Given the description of an element on the screen output the (x, y) to click on. 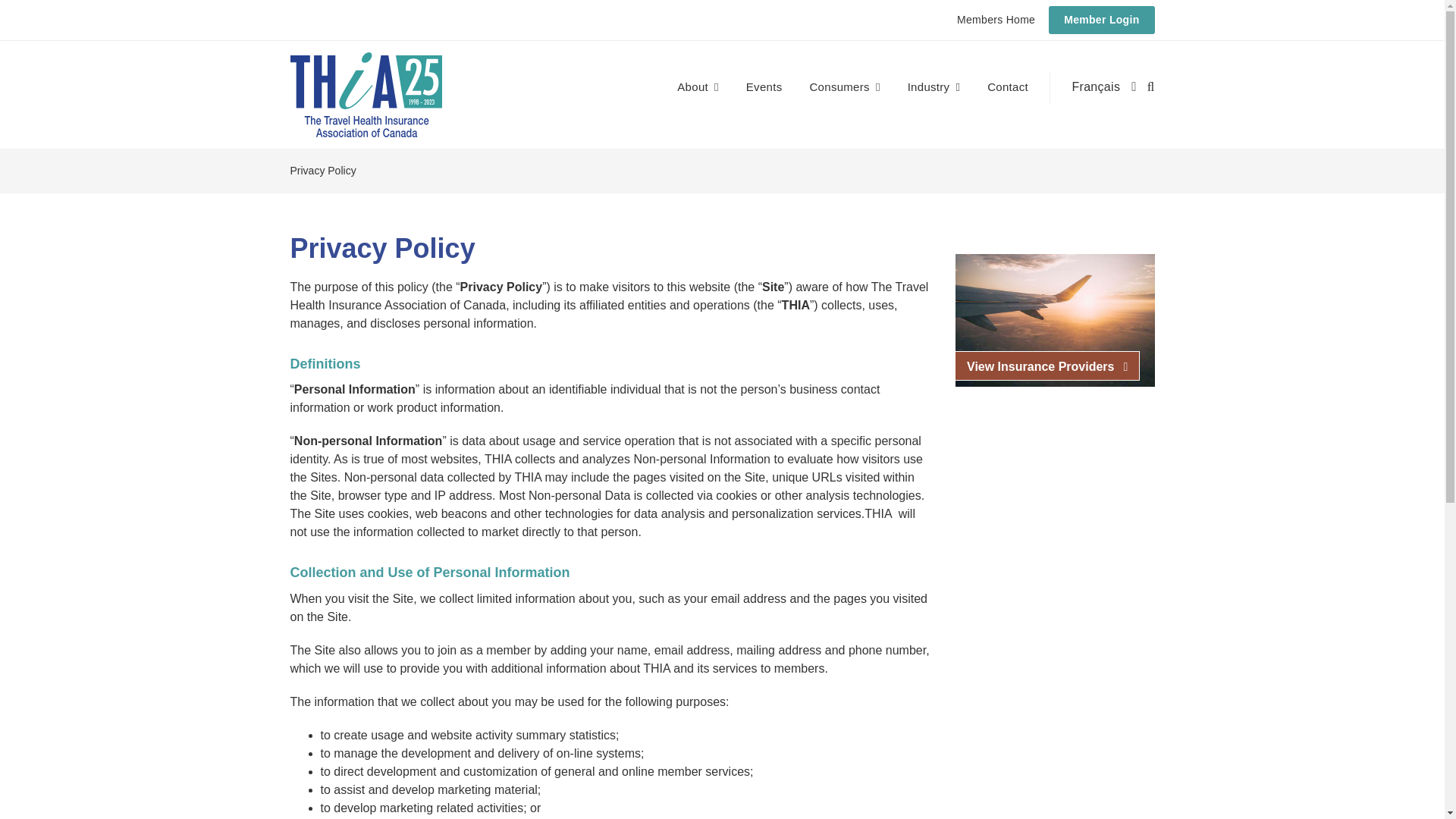
Events (764, 87)
Member Login (1101, 19)
Members Home (995, 19)
Industry (933, 87)
Consumers (844, 87)
About (697, 87)
